Given the description of an element on the screen output the (x, y) to click on. 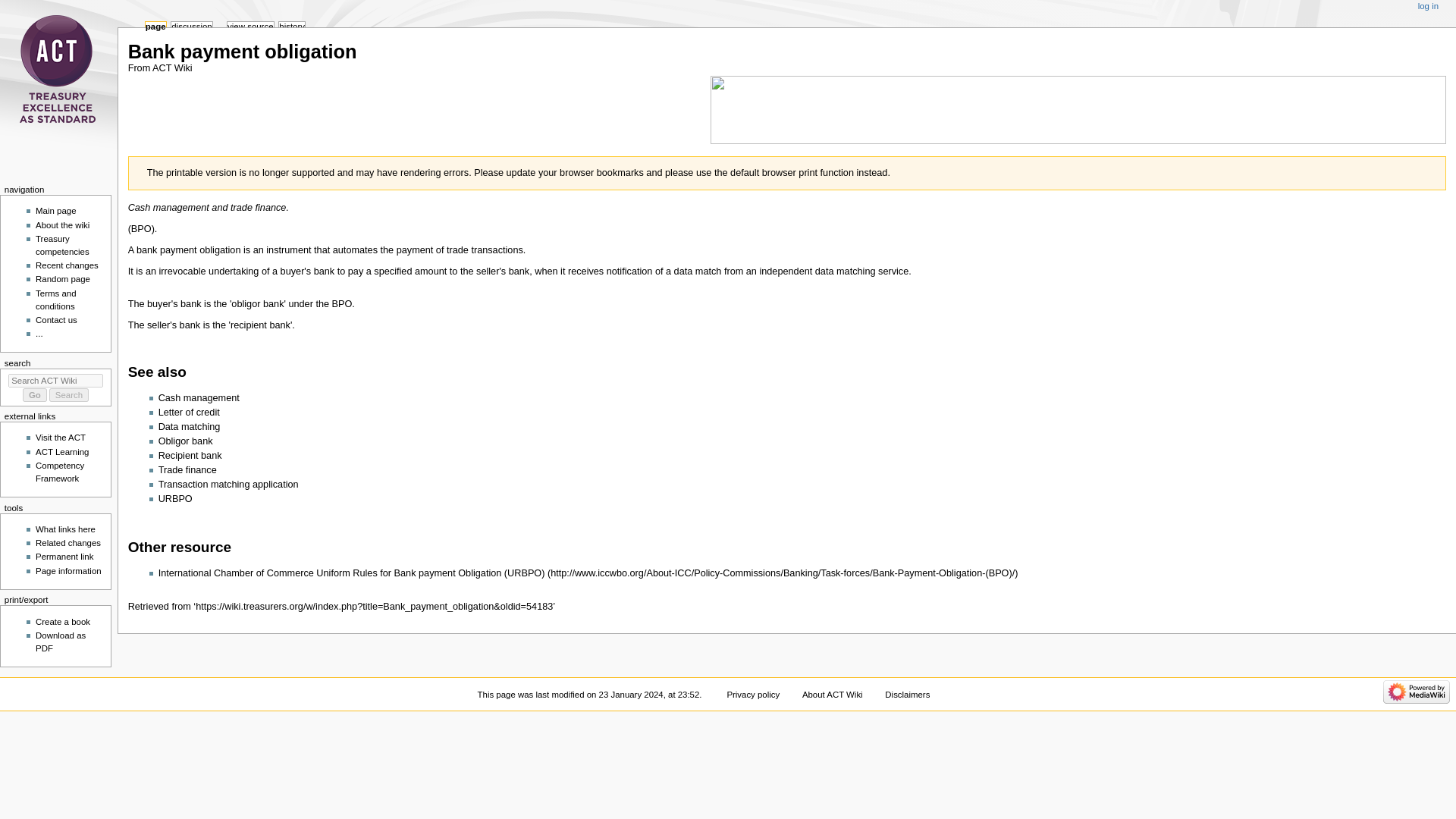
Trade finance (187, 470)
Random page (62, 278)
URBPO (175, 498)
Search (68, 395)
Go (34, 395)
Terms and conditions (54, 300)
discussion (191, 26)
Letter of credit (188, 412)
Go (34, 395)
history (291, 26)
